Given the description of an element on the screen output the (x, y) to click on. 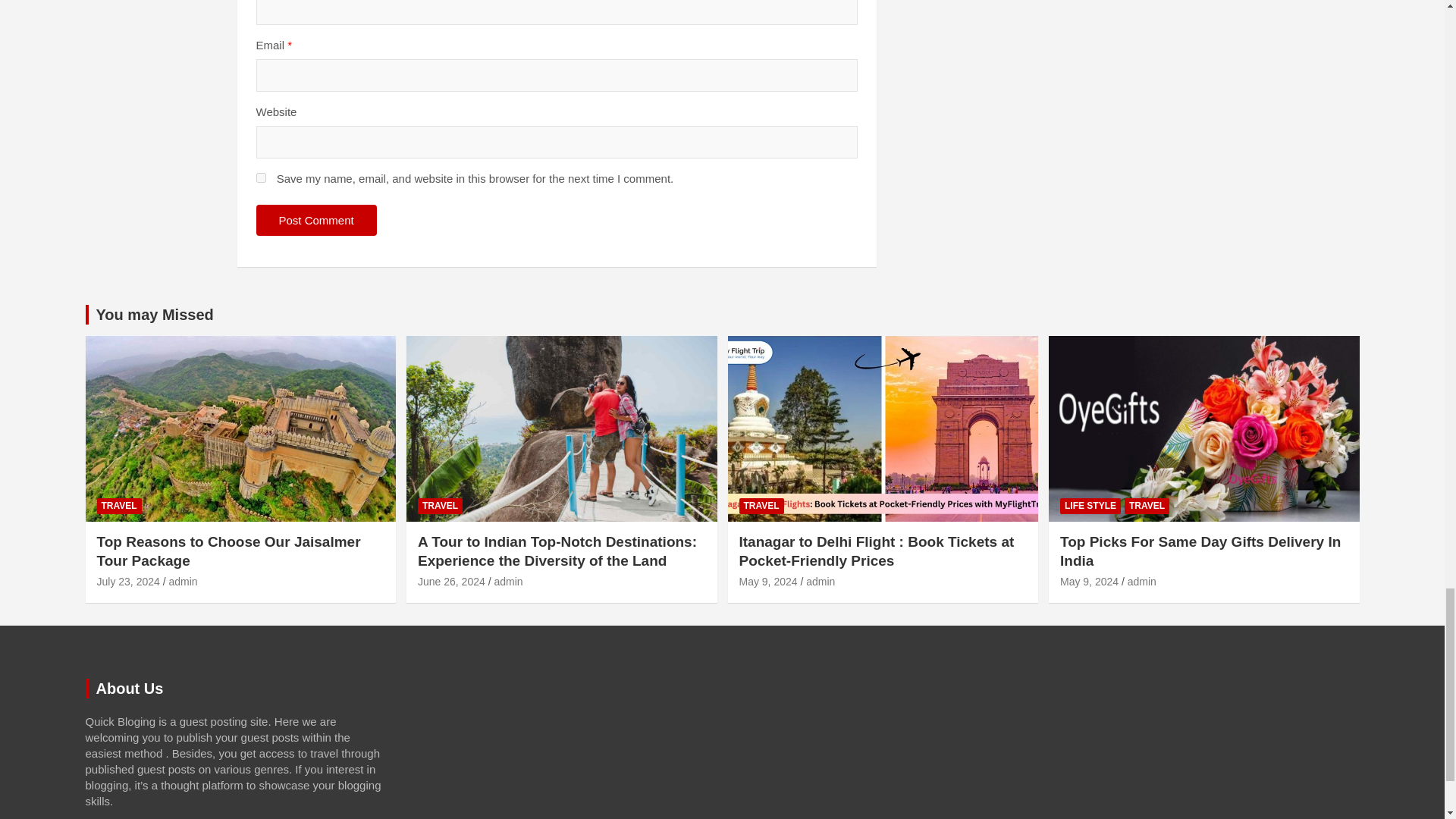
Post Comment (316, 219)
Post Comment (316, 219)
yes (261, 177)
Top Picks For Same Day Gifts Delivery In India (1088, 581)
Top Reasons to Choose Our Jaisalmer Tour Package (128, 581)
